Given the description of an element on the screen output the (x, y) to click on. 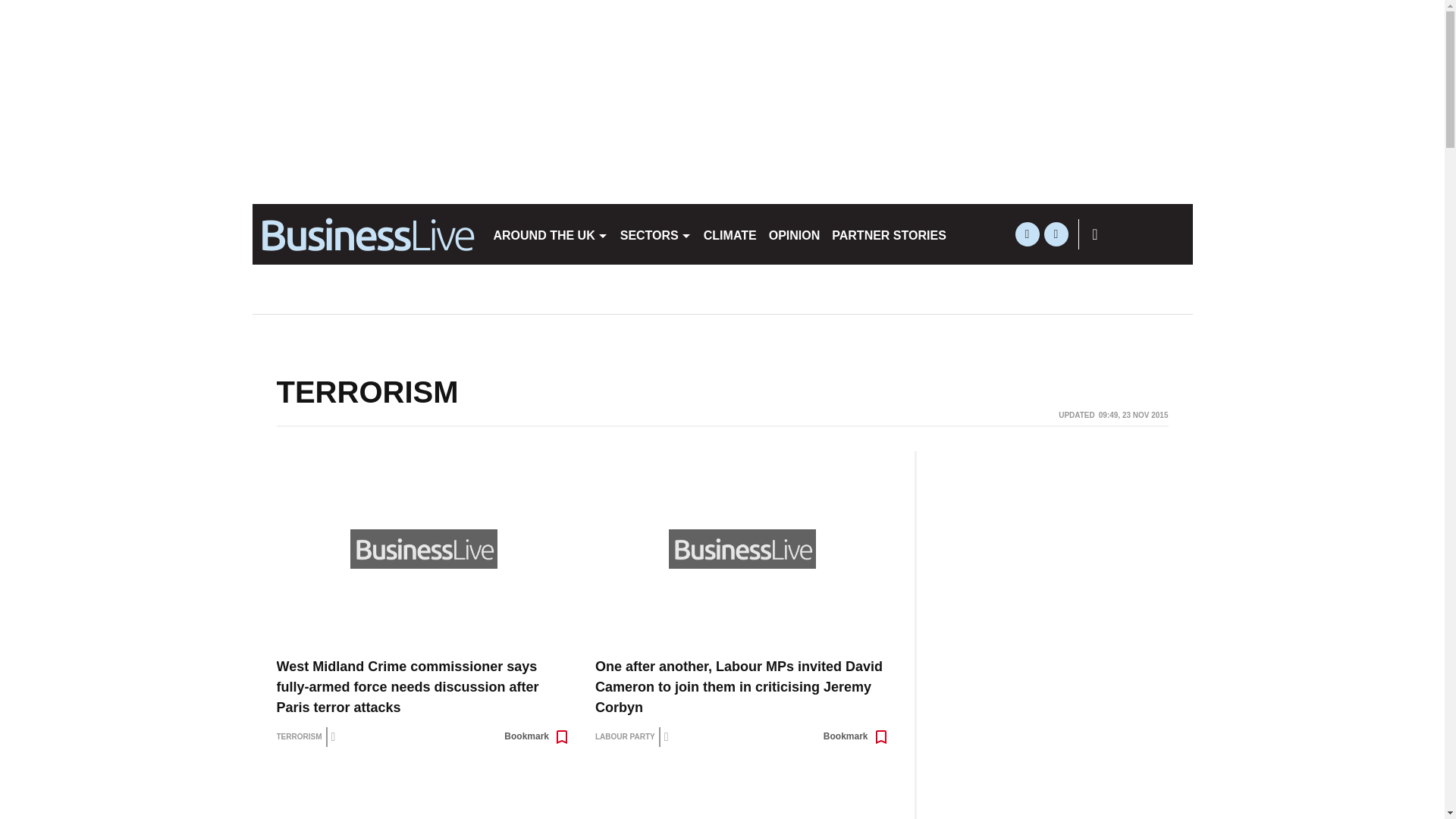
SECTORS (655, 233)
OPINION (794, 233)
PARTNER STORIES (888, 233)
birminghampost (365, 233)
twitter (1026, 233)
AROUND THE UK (549, 233)
linkedin (1055, 233)
CLIMATE (729, 233)
